Given the description of an element on the screen output the (x, y) to click on. 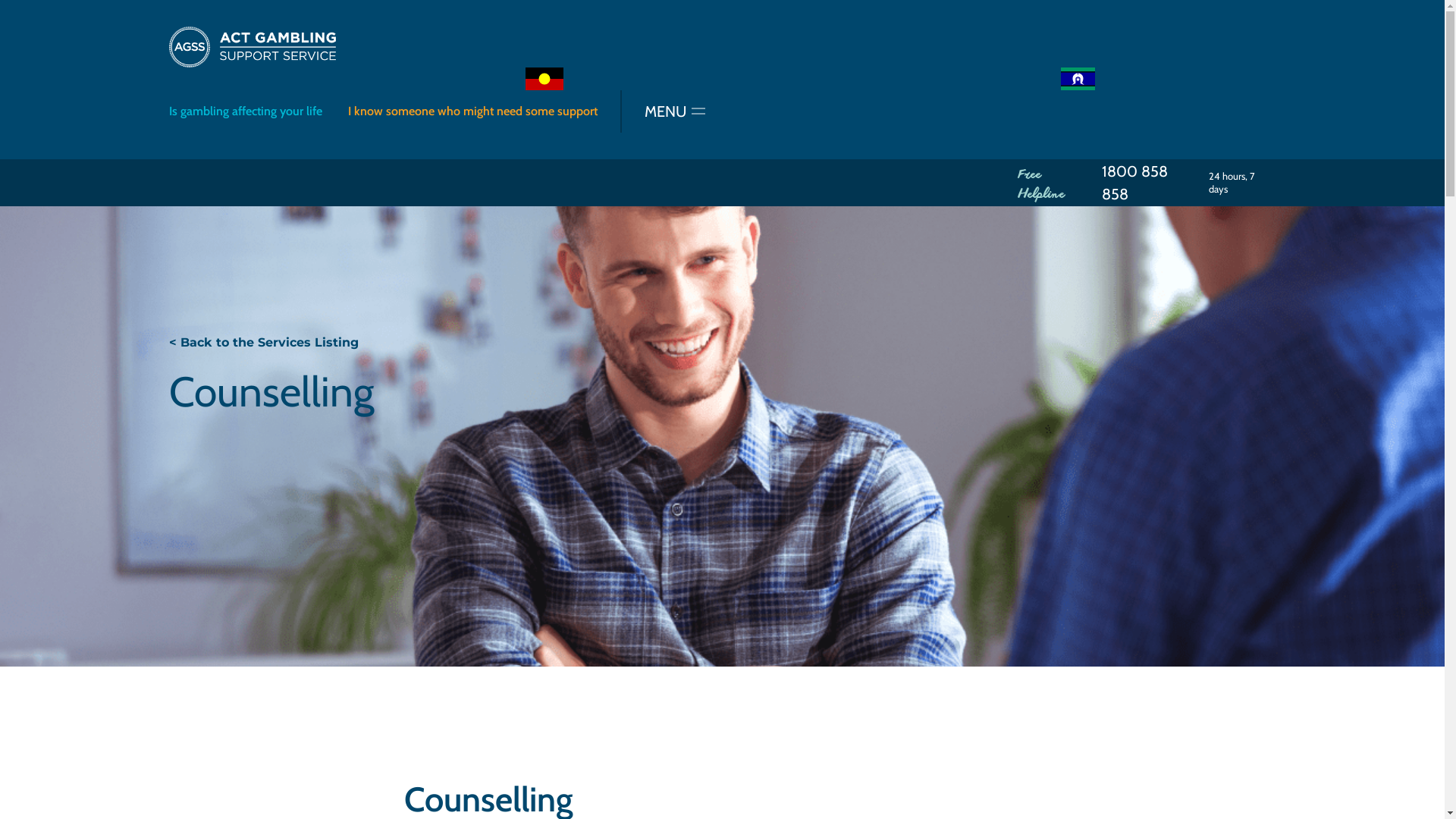
Skip to content Element type: text (0, 0)
I know someone who might need some support Element type: text (471, 110)
Free Helpline
1800 858 858
24 hours, 7 days Element type: text (1146, 182)
Is gambling affecting your life Element type: text (244, 110)
< Back to the Services Listing Element type: text (262, 342)
